Given the description of an element on the screen output the (x, y) to click on. 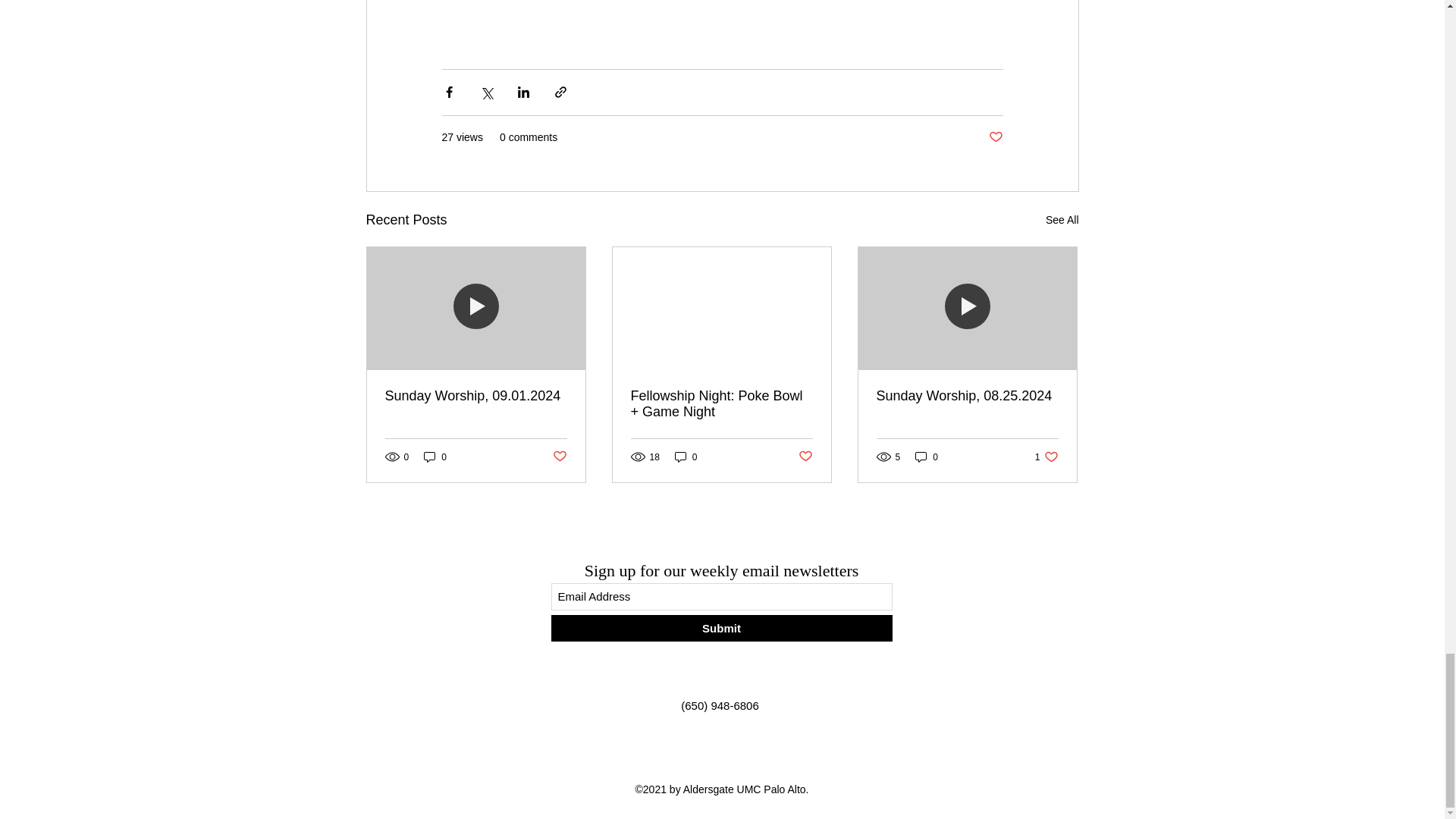
0 (685, 456)
Post not marked as liked (804, 456)
Sunday Worship, 09.01.2024 (476, 396)
Post not marked as liked (995, 137)
0 (926, 456)
0 (435, 456)
Post not marked as liked (558, 456)
See All (1061, 219)
Sunday Worship, 08.25.2024 (967, 396)
